Given the description of an element on the screen output the (x, y) to click on. 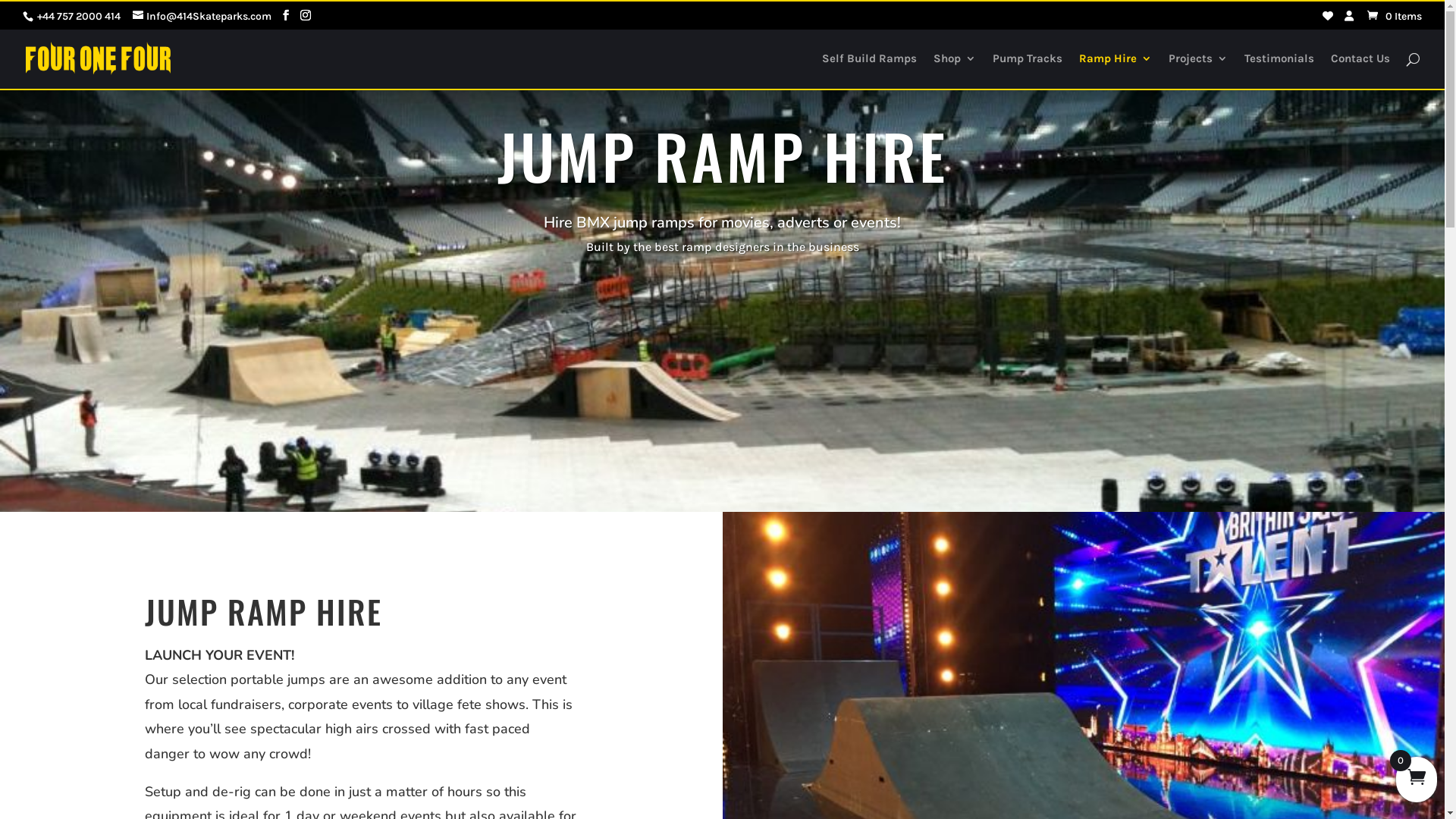
Pump Tracks Element type: text (1027, 70)
Ramp Hire Element type: text (1115, 70)
Shop Element type: text (954, 70)
My Favs Element type: hover (1327, 15)
Projects Element type: text (1197, 70)
Self Build Ramps Element type: text (869, 70)
0 Items Element type: text (1393, 15)
Info@414Skateparks.com Element type: text (201, 15)
Contact Us Element type: text (1360, 70)
Testimonials Element type: text (1279, 70)
My Account Element type: hover (1348, 15)
